Given the description of an element on the screen output the (x, y) to click on. 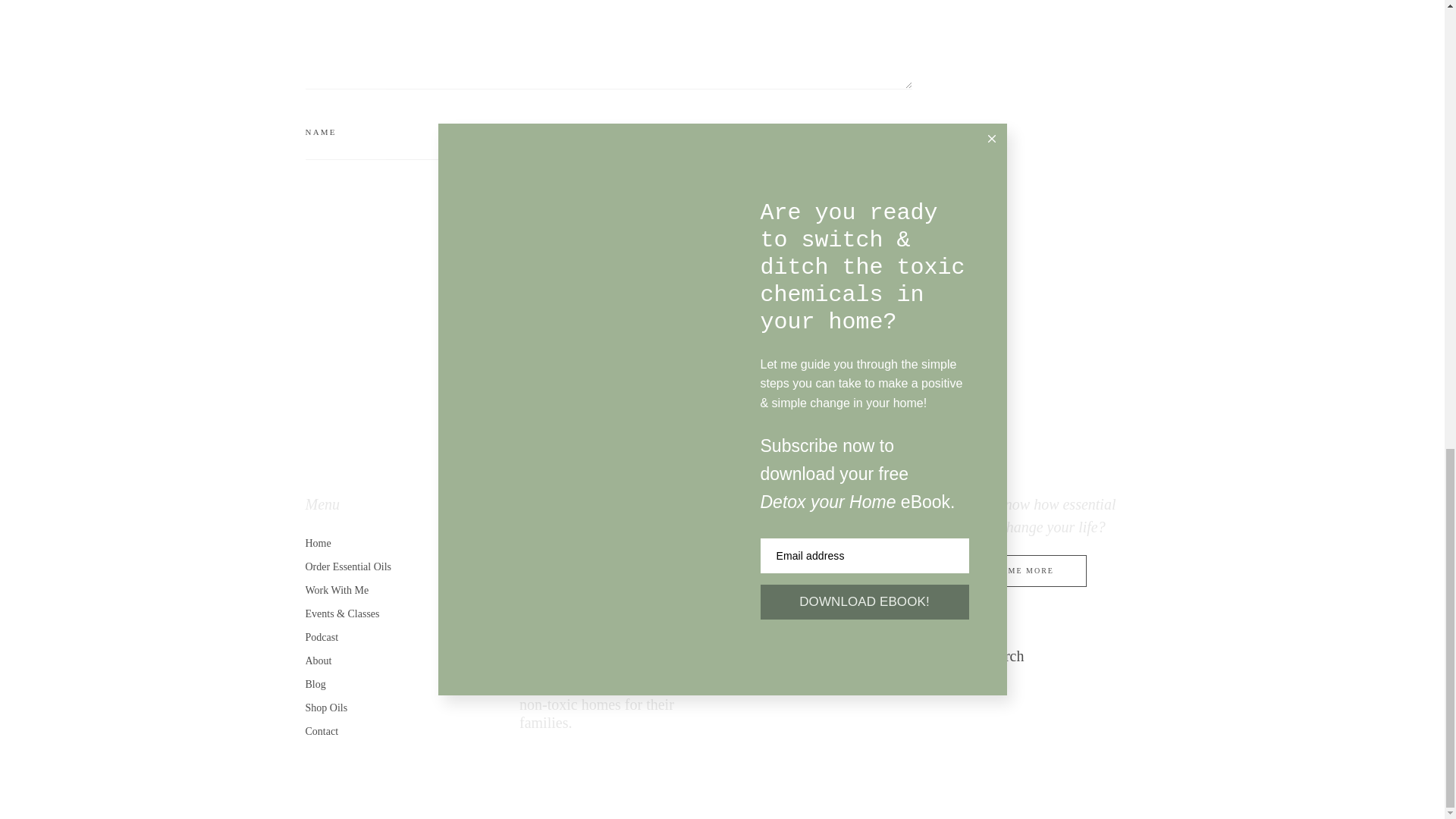
Submit (850, 216)
